Given the description of an element on the screen output the (x, y) to click on. 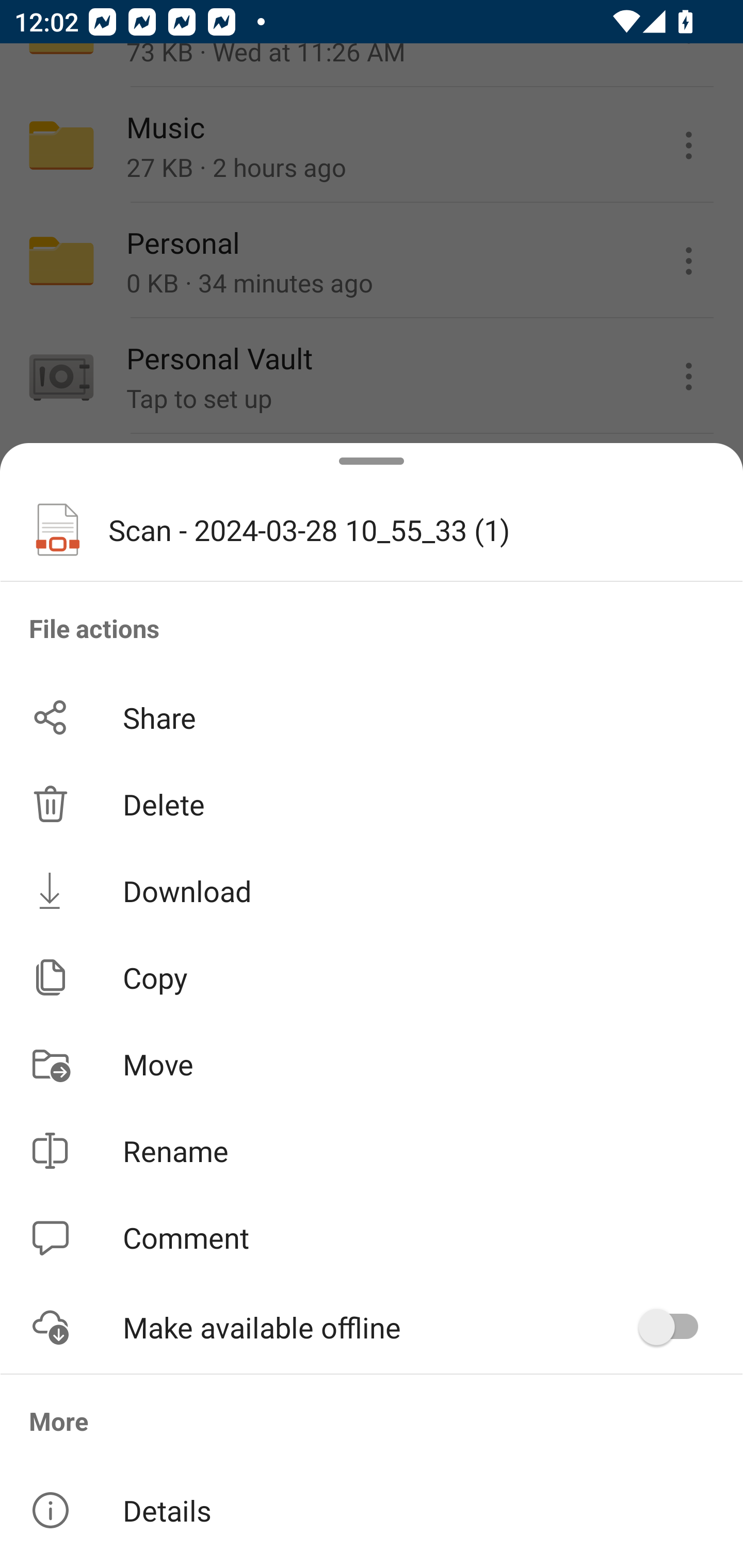
Share button Share (371, 717)
Delete button Delete (371, 803)
Download button Download (371, 890)
Copy button Copy (371, 977)
Move button Move (371, 1063)
Rename button Rename (371, 1150)
Comment button Comment (371, 1237)
Make offline operation (674, 1327)
Details button Details (371, 1510)
